Given the description of an element on the screen output the (x, y) to click on. 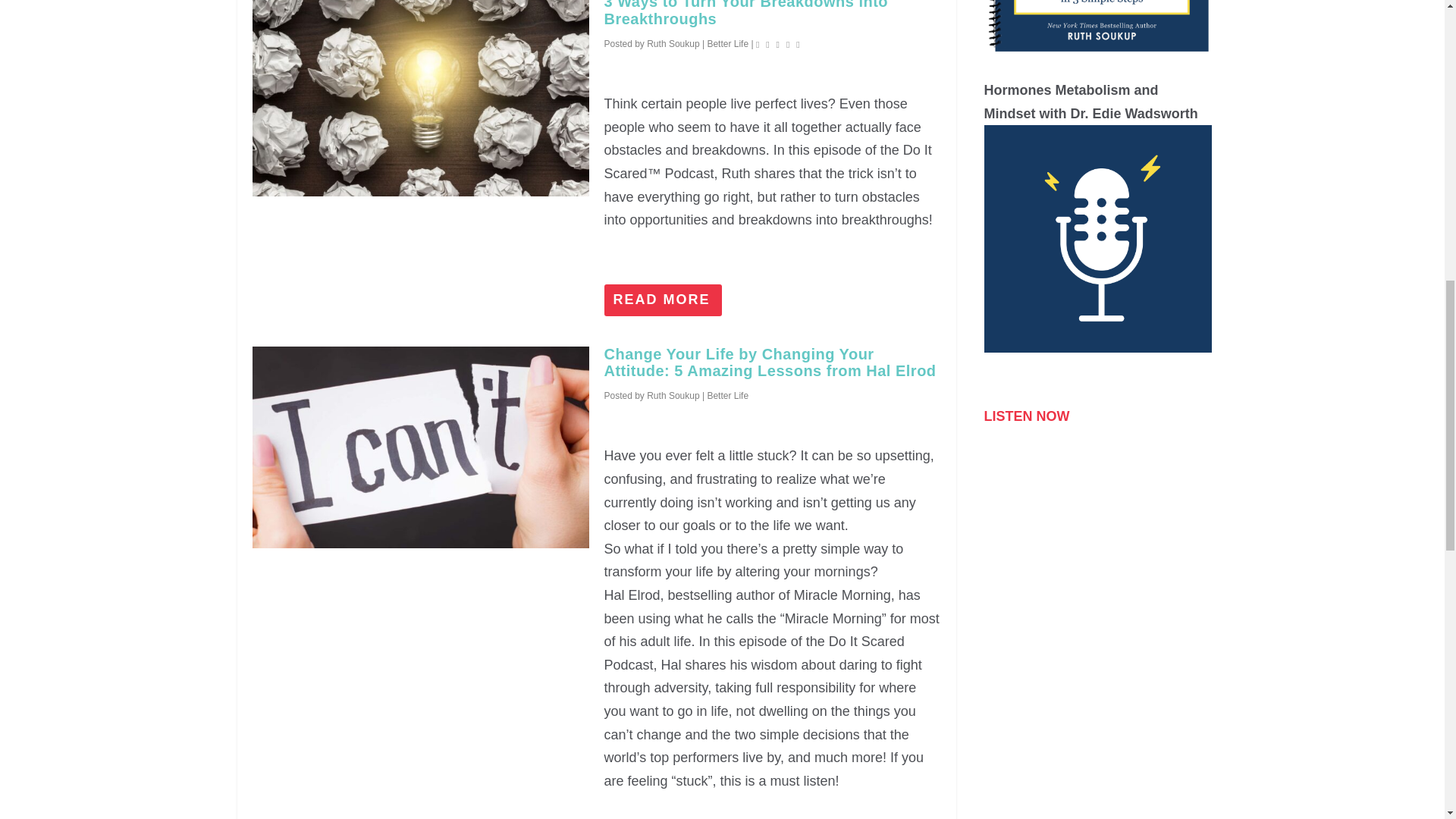
Rating: 0.00 (779, 43)
Ruth Soukup (672, 43)
Better Life (727, 395)
3 Ways to Turn Your Breakdowns into Breakthroughs (419, 97)
READ MORE (663, 300)
Ruth Soukup (672, 395)
Better Life (727, 43)
Posts by Ruth Soukup (672, 395)
Posts by Ruth Soukup (672, 43)
3 Ways to Turn Your Breakdowns into Breakthroughs (746, 13)
